Given the description of an element on the screen output the (x, y) to click on. 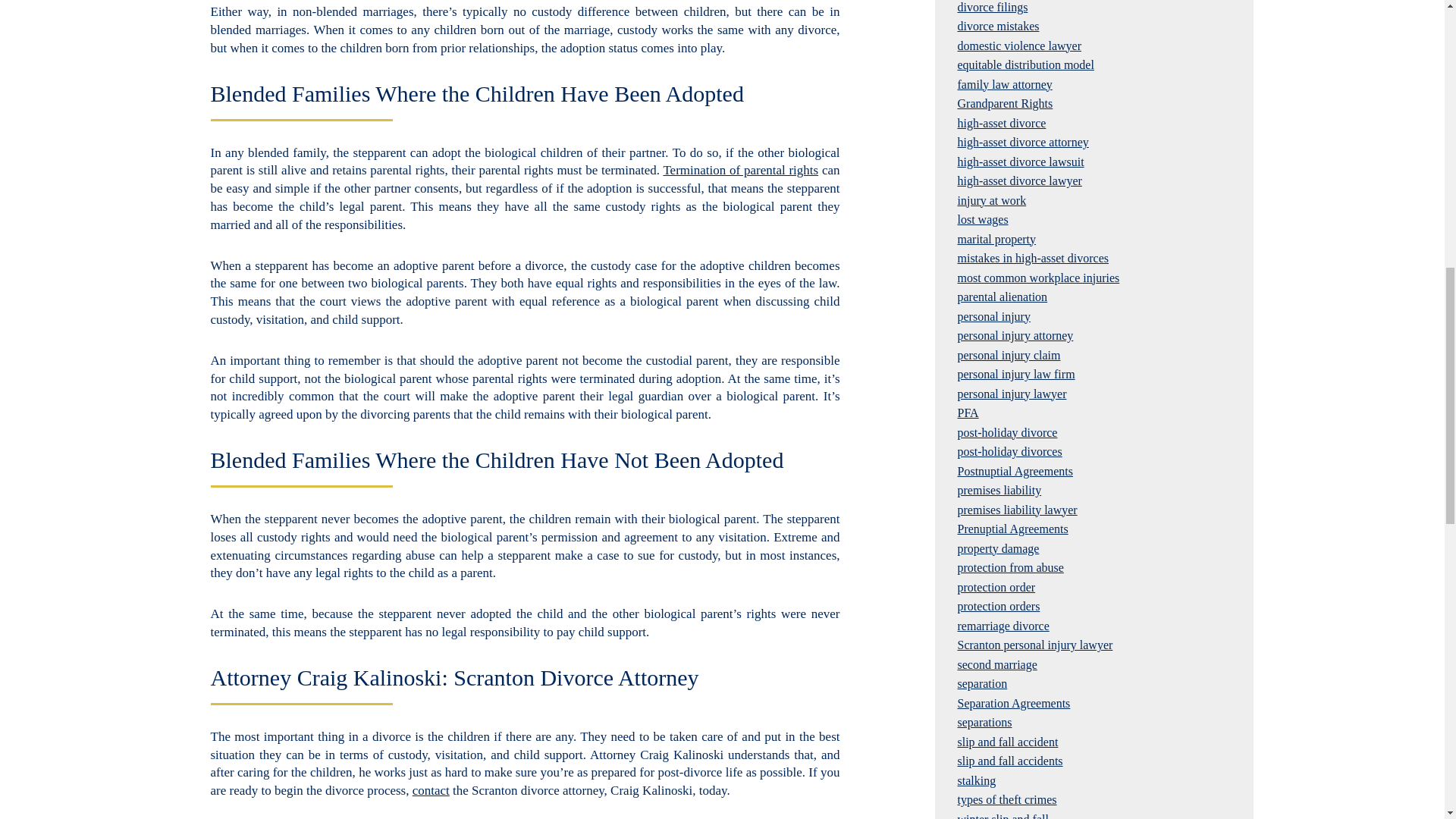
Termination of parental rights (740, 169)
contact (430, 789)
